Given the description of an element on the screen output the (x, y) to click on. 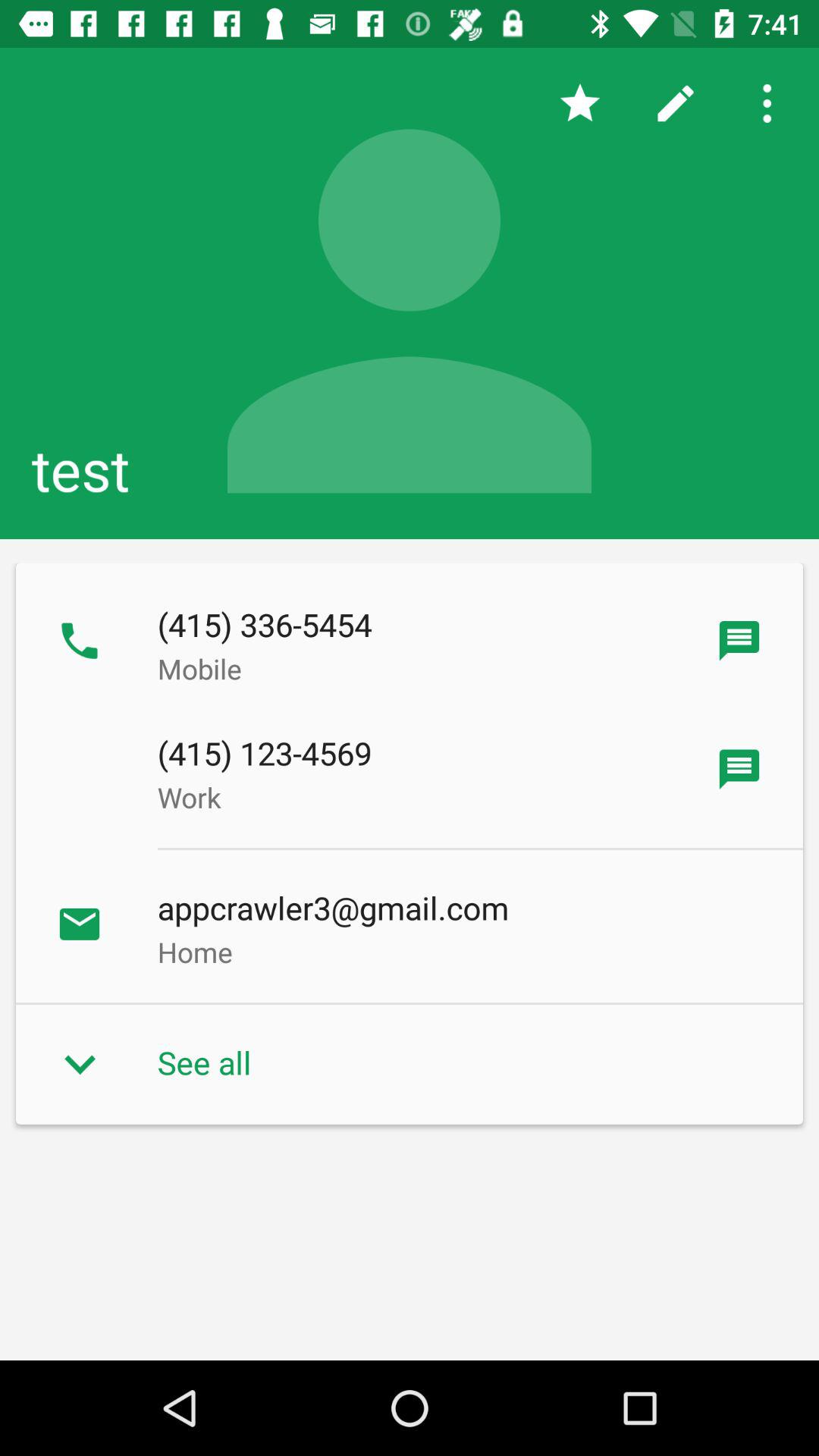
select the item above test item (771, 103)
